Given the description of an element on the screen output the (x, y) to click on. 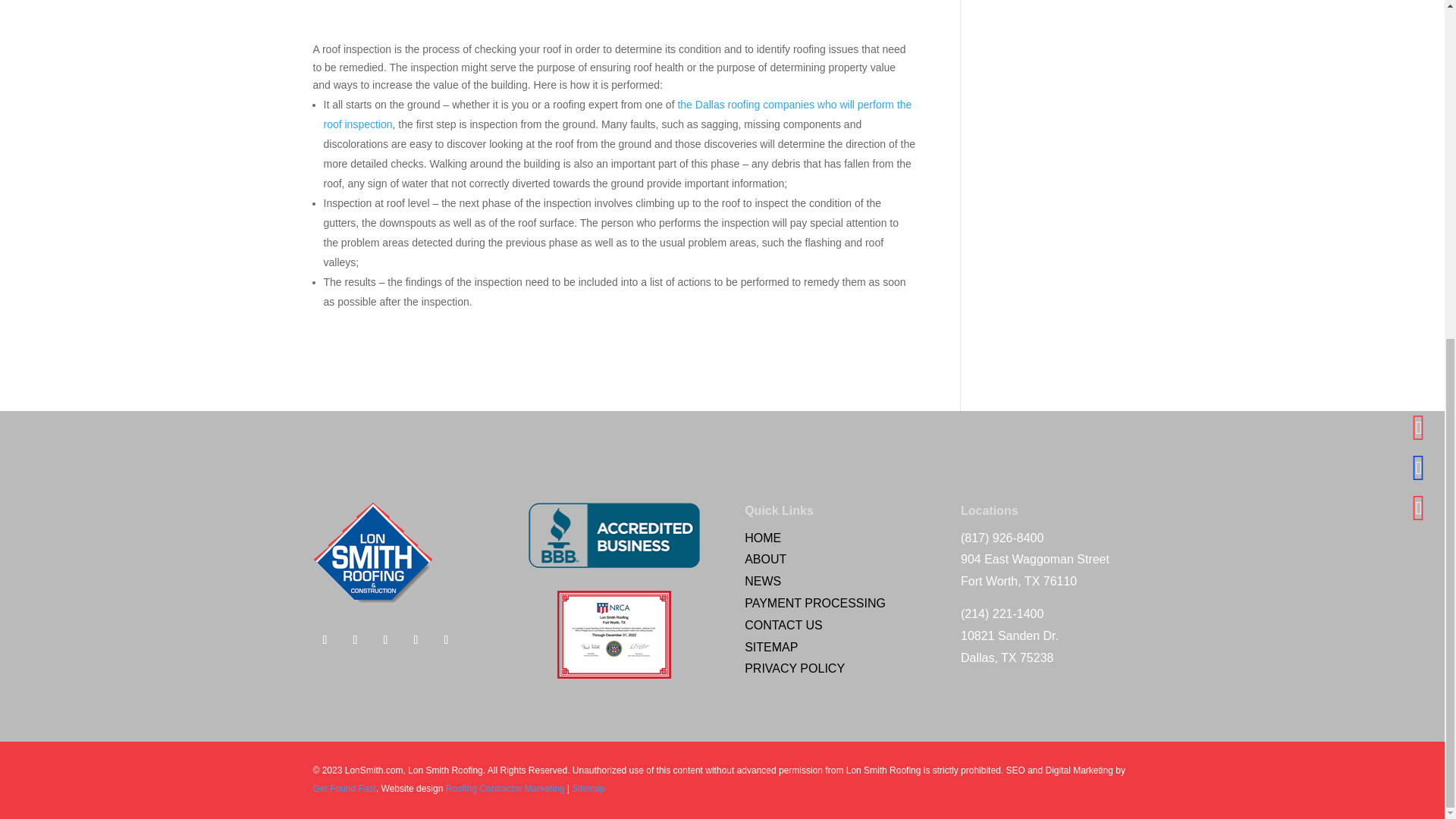
BBBlogo (613, 535)
Follow on google-plus (445, 639)
Follow on Instagram (415, 639)
Follow on X (354, 639)
NRCA2022-150 (614, 634)
Follow on Facebook (324, 639)
Follow on Youtube (384, 639)
